Given the description of an element on the screen output the (x, y) to click on. 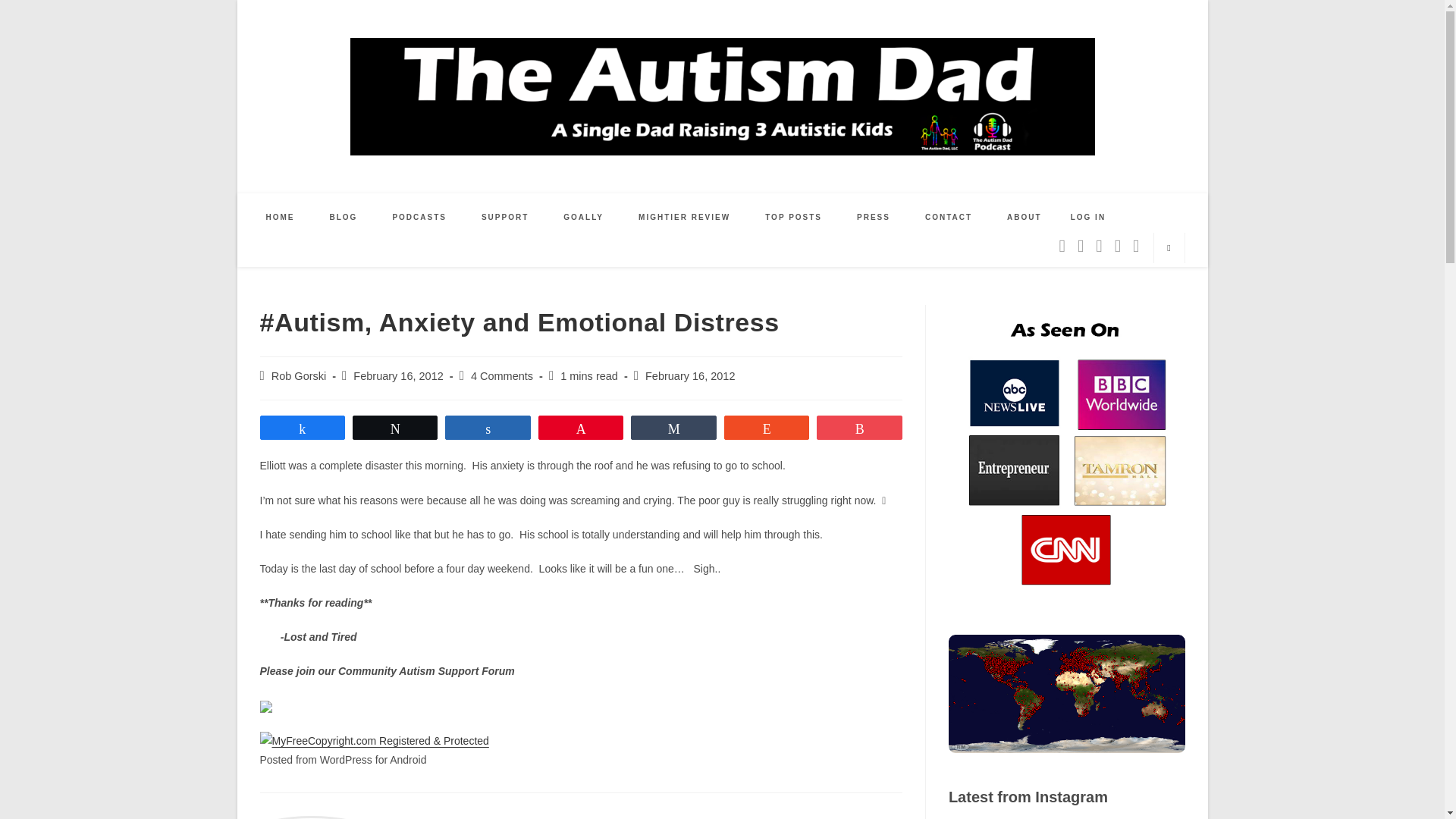
Visit author page (422, 818)
Posts by Rob Gorski (298, 376)
4 Comments (501, 376)
SUPPORT (505, 217)
PODCASTS (419, 217)
LOG IN (1087, 217)
BLOG (344, 217)
HOME (280, 217)
PRESS (873, 217)
